Given the description of an element on the screen output the (x, y) to click on. 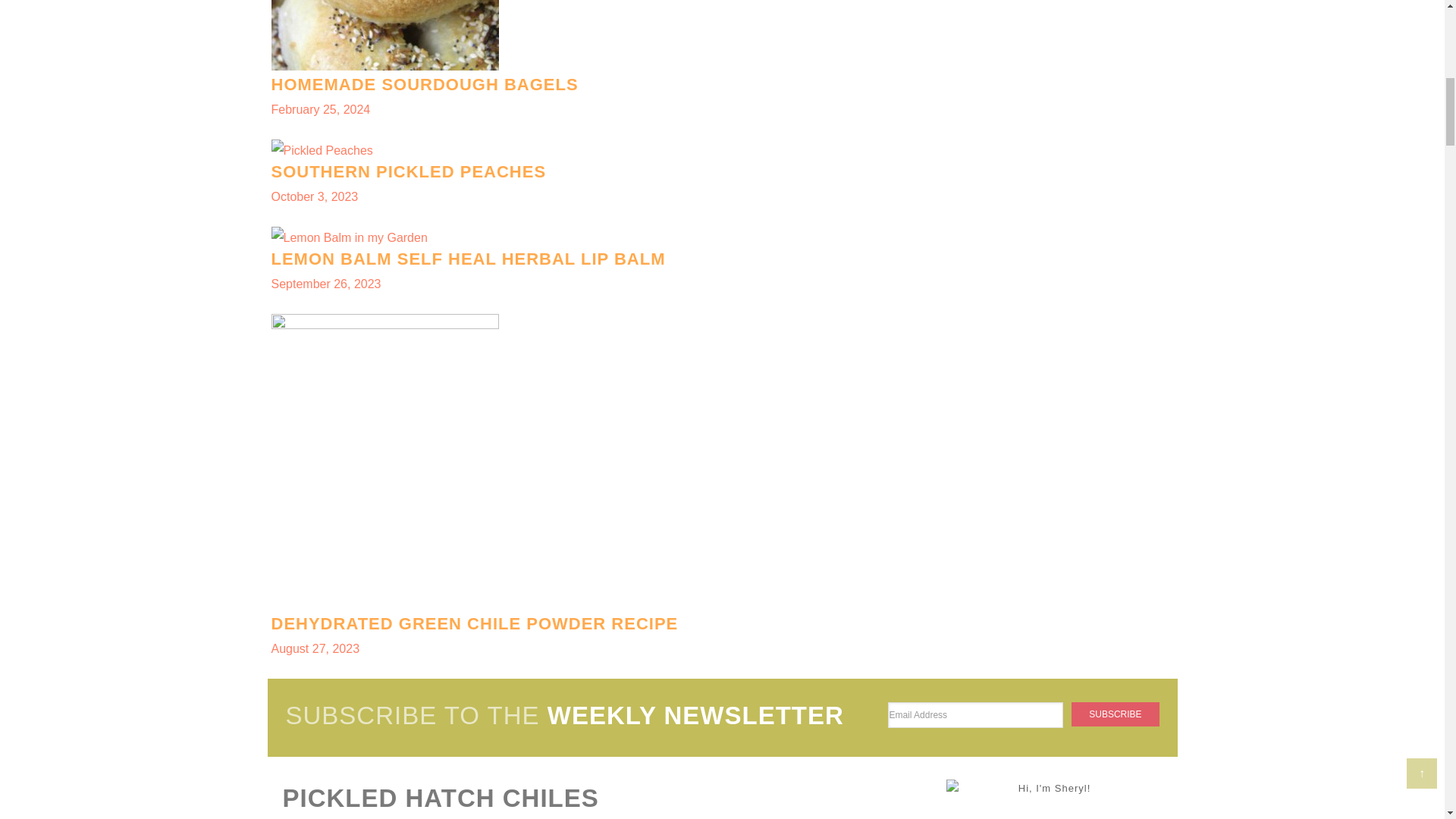
Subscribe (721, 60)
Subscribe (1114, 713)
